Given the description of an element on the screen output the (x, y) to click on. 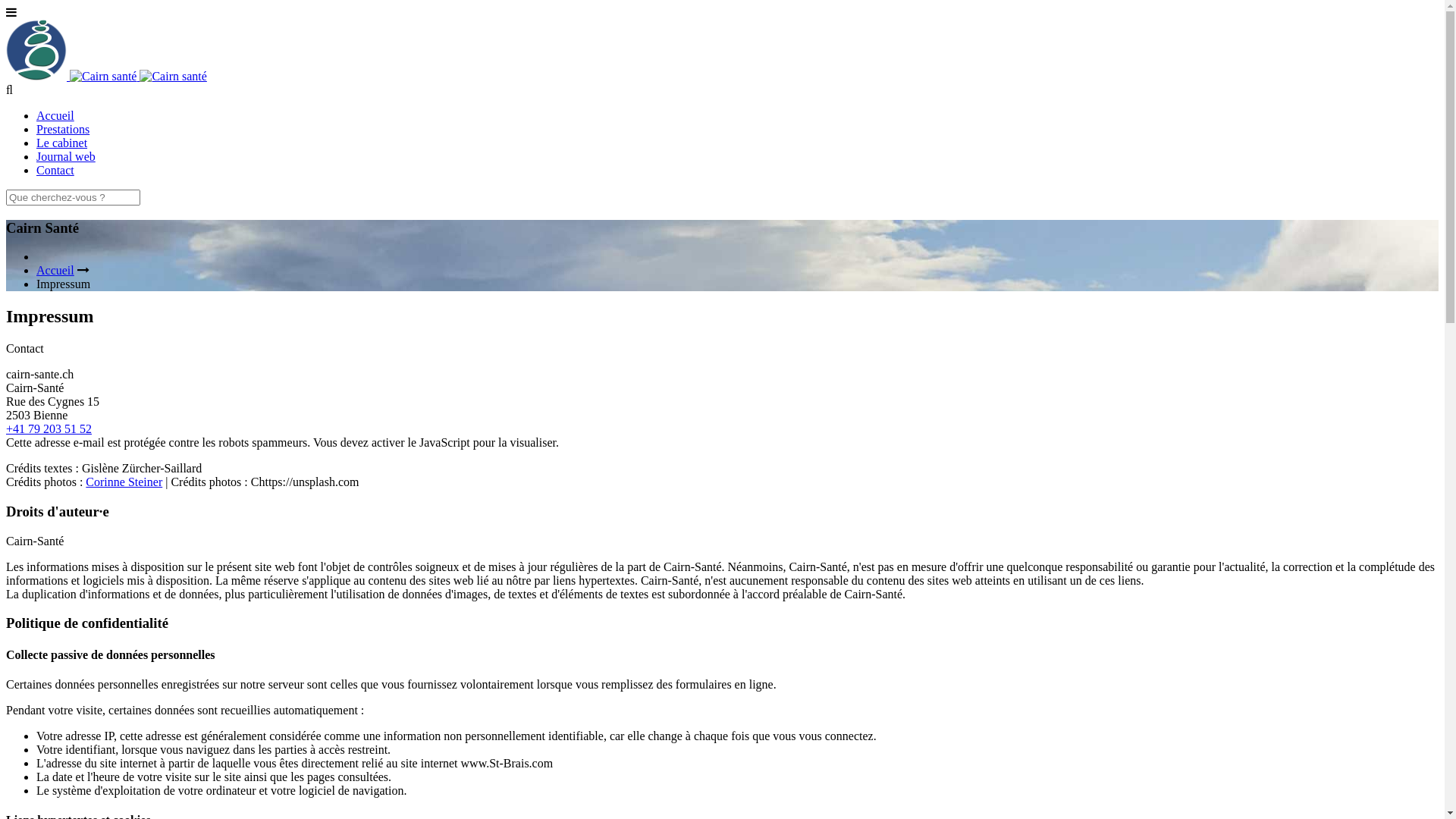
Le cabinet Element type: text (61, 142)
Accueil Element type: text (55, 269)
Prestations Element type: text (62, 128)
+41 79 203 51 52 Element type: text (48, 428)
Journal web Element type: text (65, 156)
Accueil Element type: text (55, 115)
Contact Element type: text (55, 169)
Corinne Steiner Element type: text (123, 481)
